Given the description of an element on the screen output the (x, y) to click on. 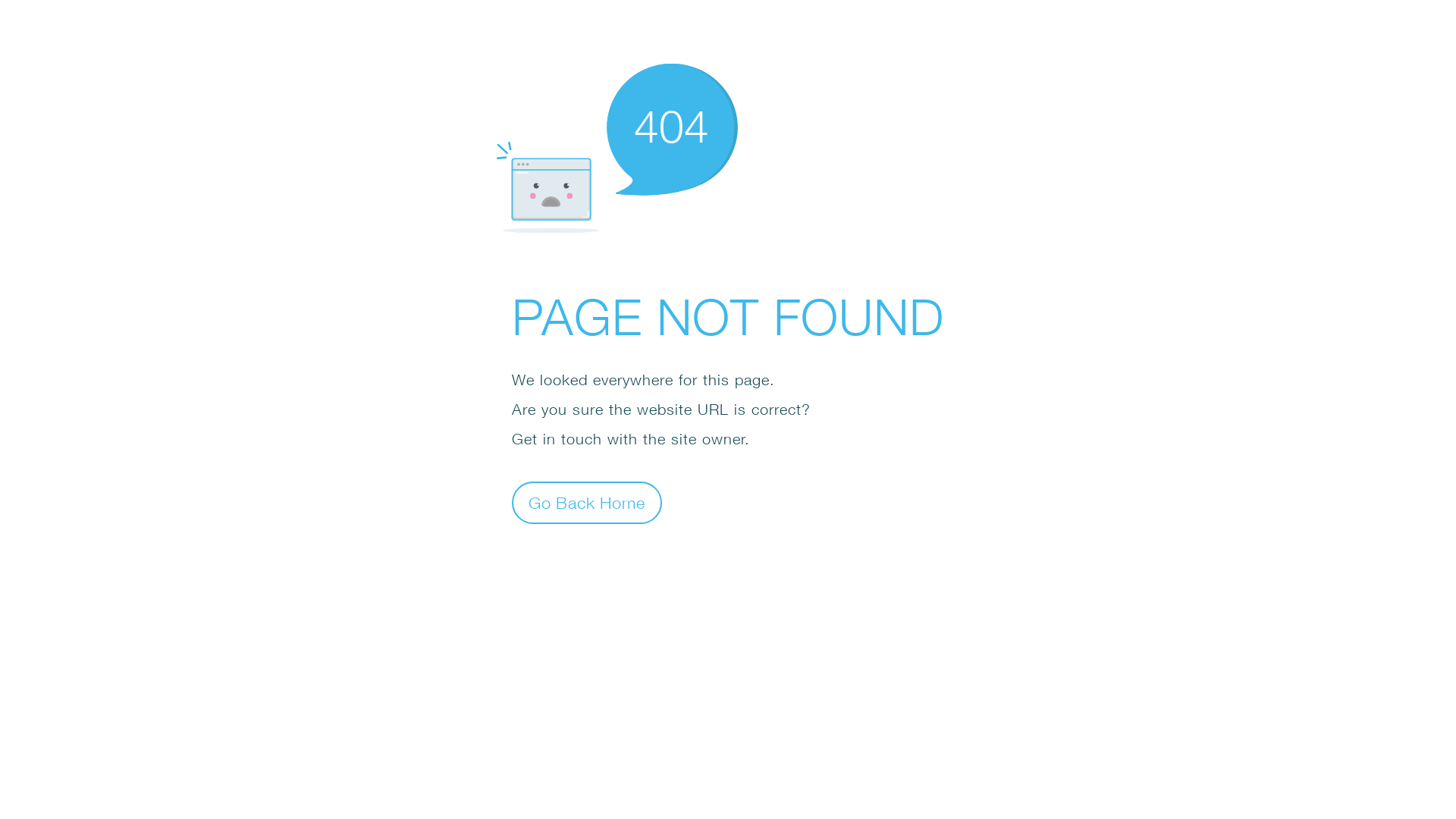
Go Back Home Element type: text (586, 502)
